Given the description of an element on the screen output the (x, y) to click on. 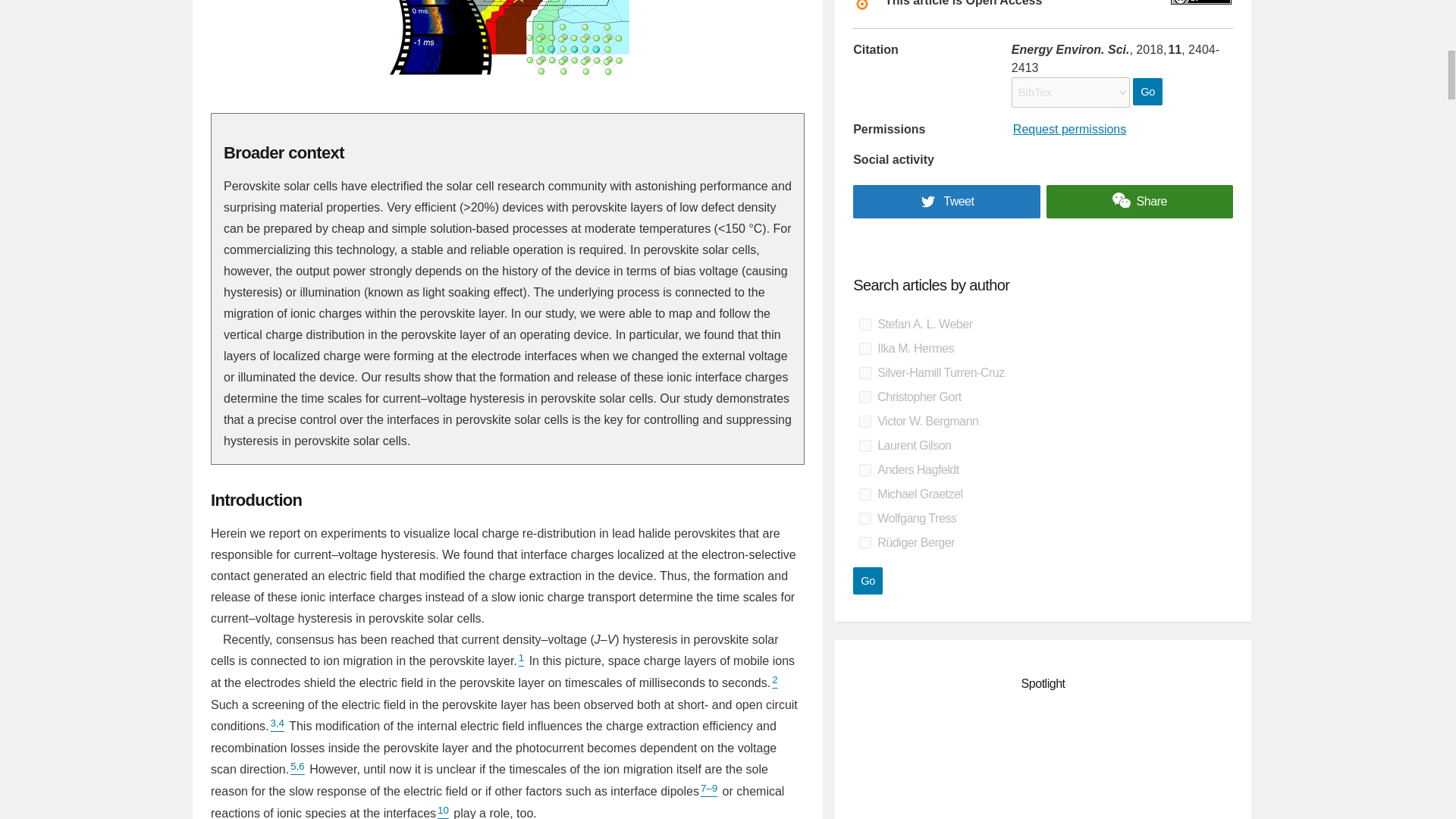
on (864, 494)
on (864, 324)
on (864, 397)
on (864, 372)
on (864, 518)
on (864, 469)
on (864, 348)
Go (867, 580)
on (864, 445)
Go (1146, 91)
on (864, 542)
on (864, 421)
